Given the description of an element on the screen output the (x, y) to click on. 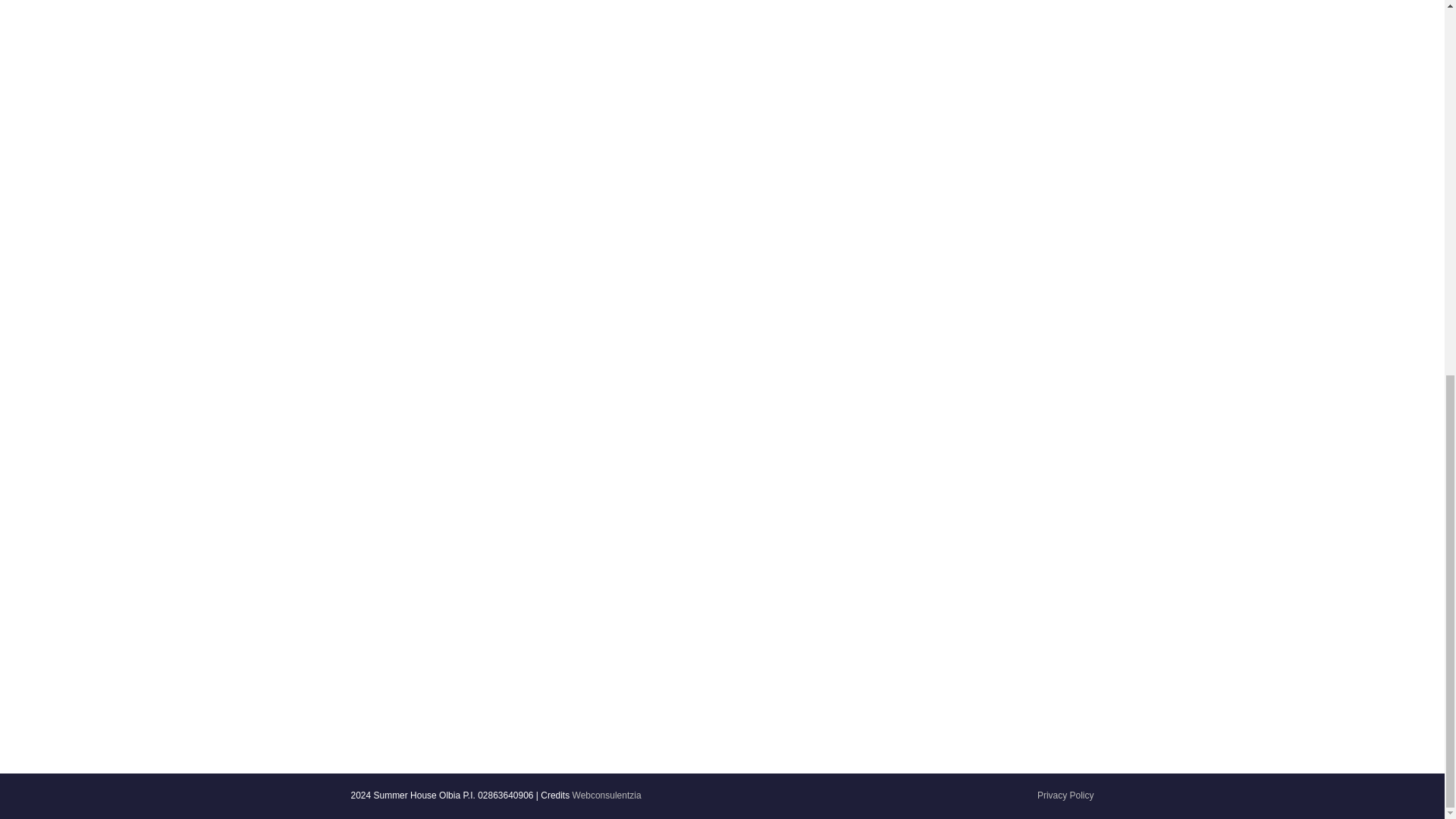
Privacy Policy (1065, 795)
Webconsulentzia (607, 795)
